Given the description of an element on the screen output the (x, y) to click on. 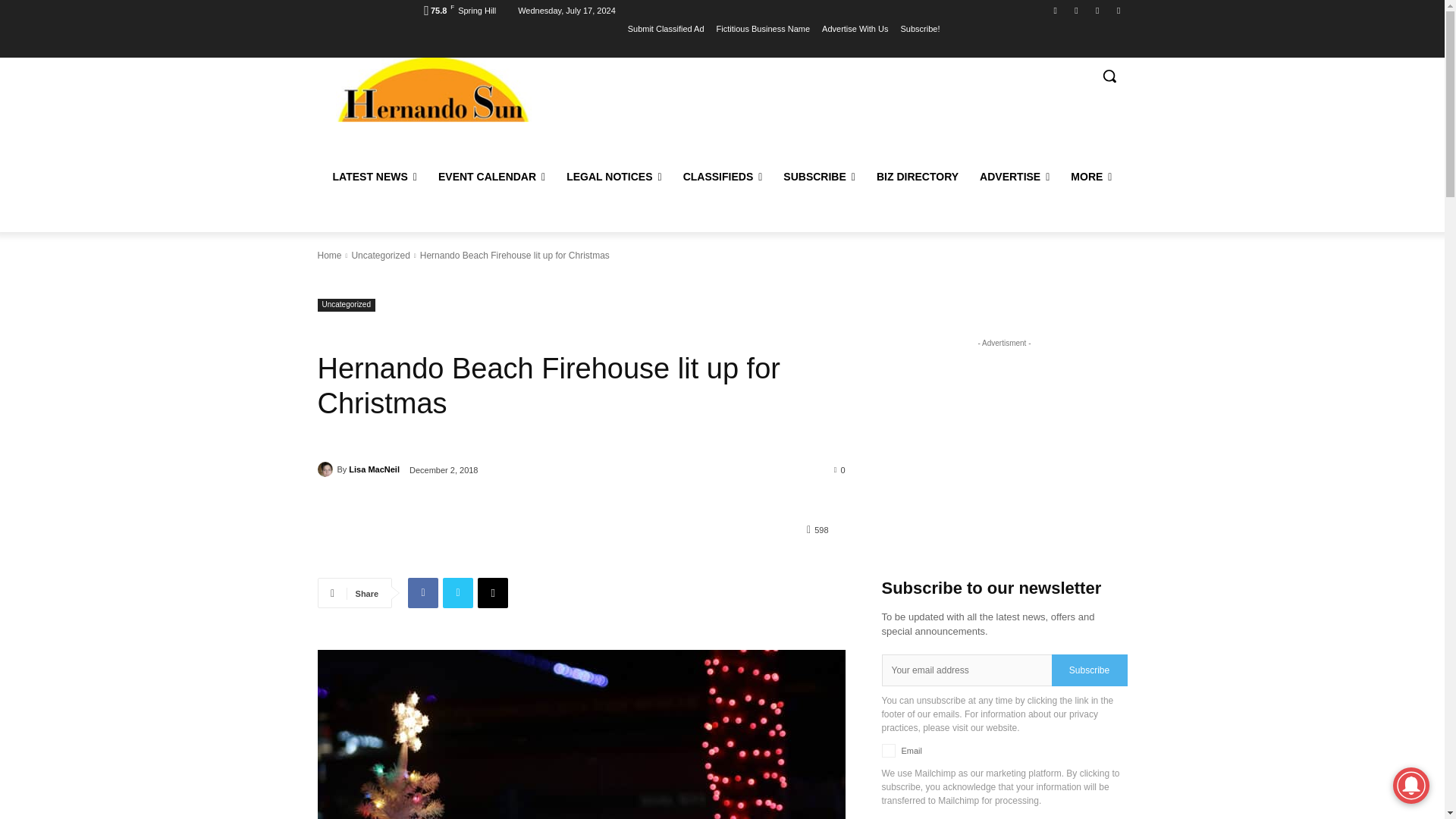
Instagram (1117, 9)
Facebook (1055, 9)
3rd party ad content (820, 108)
View all posts in Uncategorized (379, 255)
Hernando Sun Logo (432, 89)
Lisa MacNeil (326, 468)
Twitter (1075, 9)
Youtube (1097, 9)
